Given the description of an element on the screen output the (x, y) to click on. 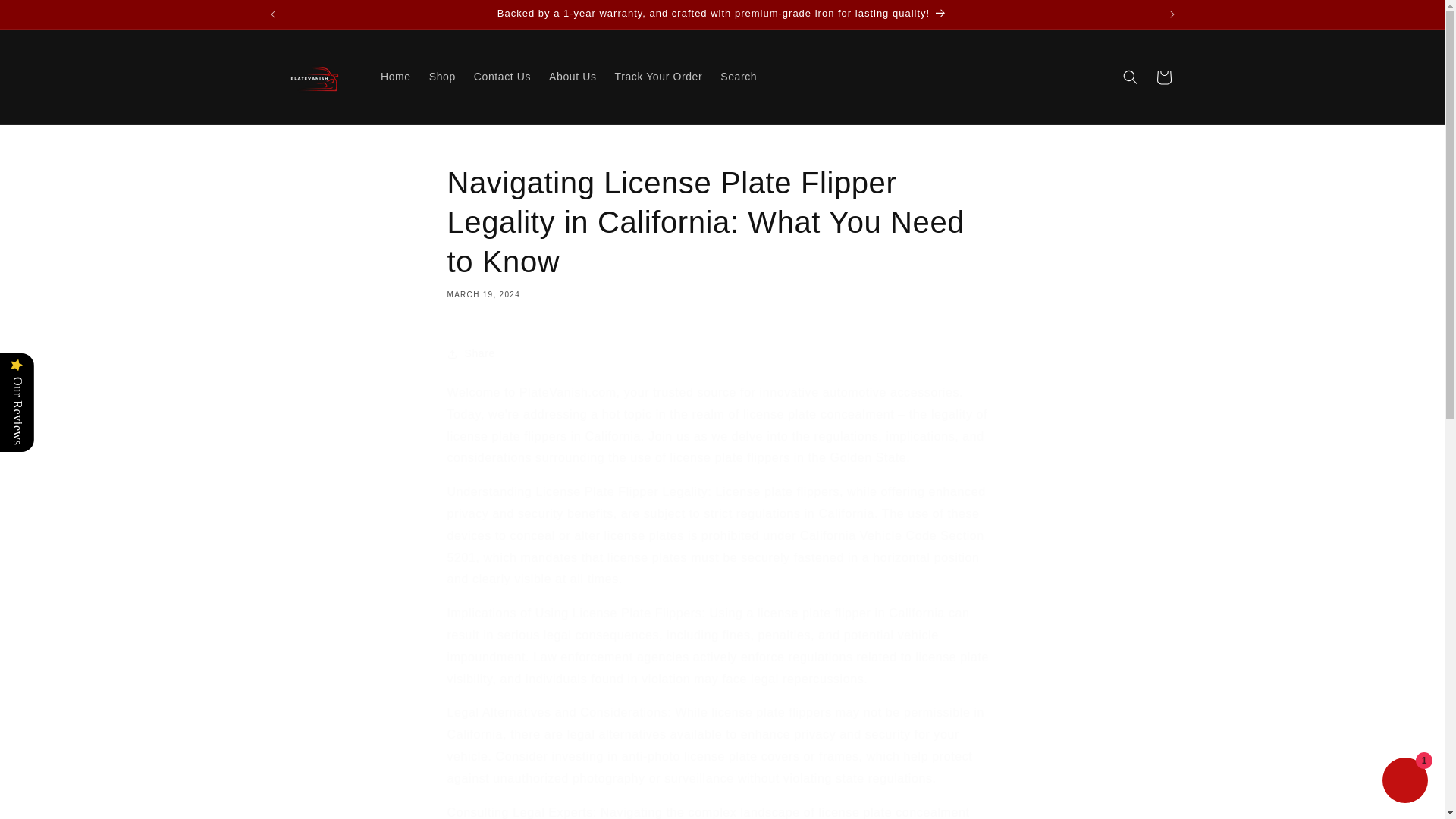
Search (738, 76)
About Us (572, 76)
Cart (1163, 77)
Shopify online store chat (1404, 781)
Track Your Order (658, 76)
Home (395, 76)
Share (721, 354)
Shop (442, 76)
Contact Us (502, 76)
Skip to content (45, 17)
